Given the description of an element on the screen output the (x, y) to click on. 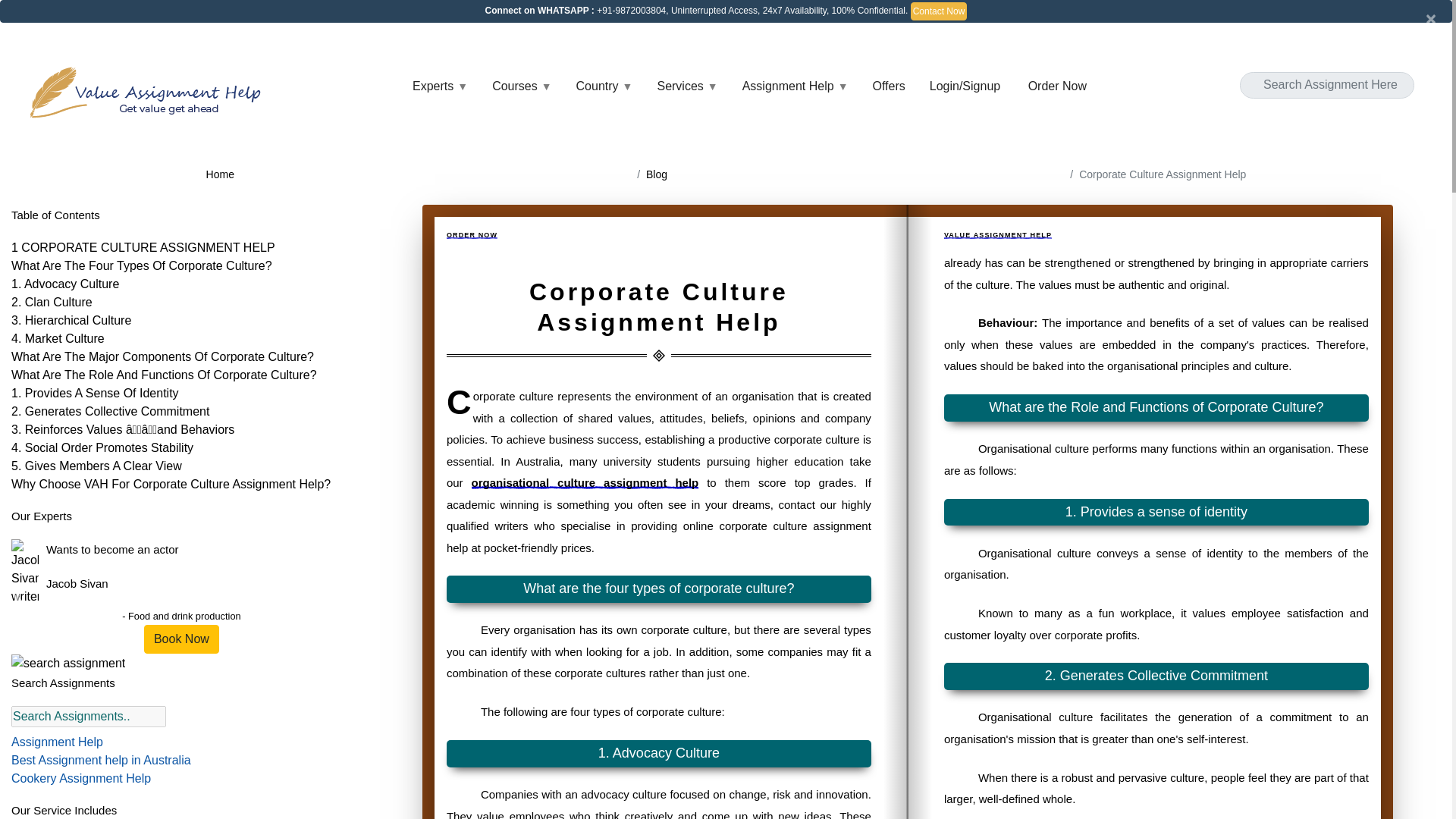
Experts (439, 85)
Contact Now (939, 11)
Value Assignment help (148, 91)
